Given the description of an element on the screen output the (x, y) to click on. 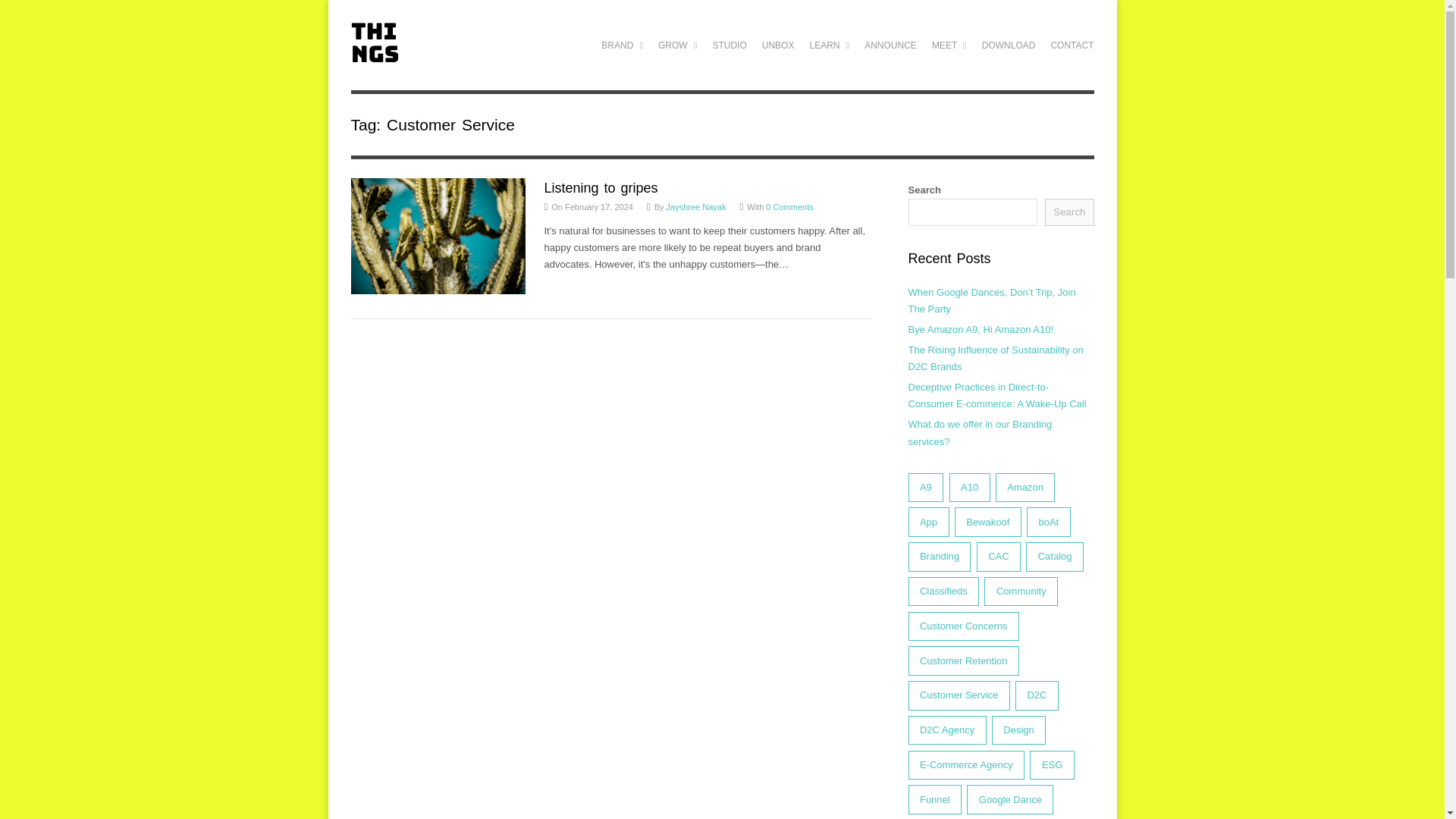
Listening to gripes (601, 187)
Listening to gripes (601, 187)
Things (373, 53)
Jayshree Nayak (696, 206)
MEET (949, 45)
STUDIO (729, 45)
BRAND (622, 45)
UNBOX (778, 45)
LEARN (829, 45)
ANNOUNCE (890, 45)
Posts by Jayshree Nayak (696, 206)
GROW (677, 45)
D2C Agency (622, 45)
DOWNLOAD (1008, 45)
CONTACT (1071, 45)
